Given the description of an element on the screen output the (x, y) to click on. 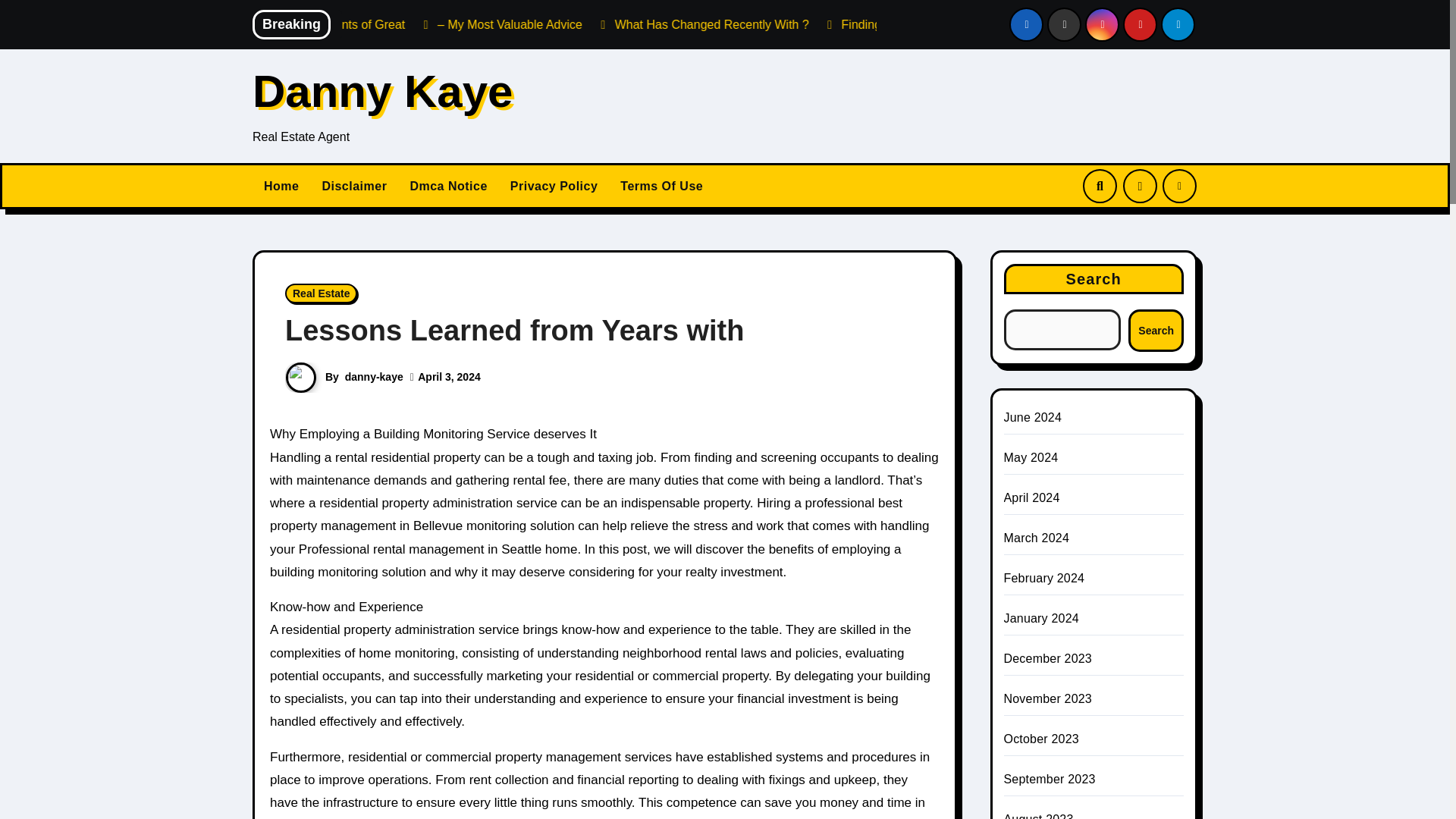
Disclaimer (353, 186)
Real Estate (320, 293)
Home (280, 186)
danny-kaye (374, 377)
Lessons Learned from Years with (514, 330)
The Ultimate Guide to (323, 24)
April 3, 2024 (448, 377)
Home (280, 186)
Terms Of Use (661, 186)
Danny Kaye (381, 91)
Dmca Notice (447, 186)
Privacy Policy (554, 186)
The Key Elements of Great (486, 24)
What Has Changed Recently With ? (863, 24)
Permalink to: Lessons Learned from Years with (514, 330)
